Given the description of an element on the screen output the (x, y) to click on. 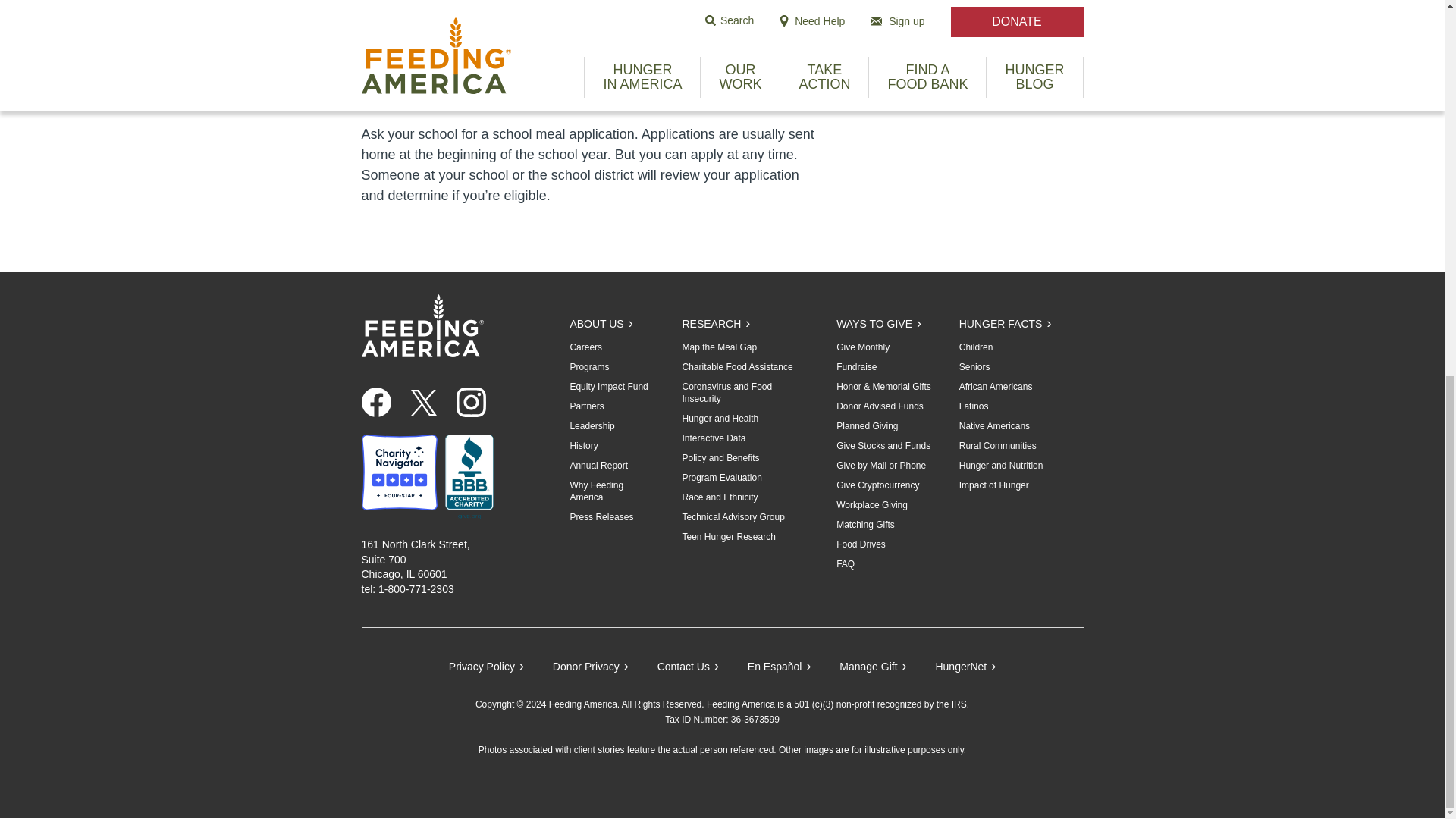
Our Partners (586, 406)
Give Bitcoin and Cryptocurrency (876, 484)
Race, Ethnicity and Food Insecurity Research (719, 497)
Visit our Instagram (471, 401)
Food Security Equity Impact Fund (608, 386)
Instagram (477, 401)
Our Programs (588, 366)
Health Research (719, 418)
Visit our X.com feed (423, 402)
Our Leadership (591, 425)
